Given the description of an element on the screen output the (x, y) to click on. 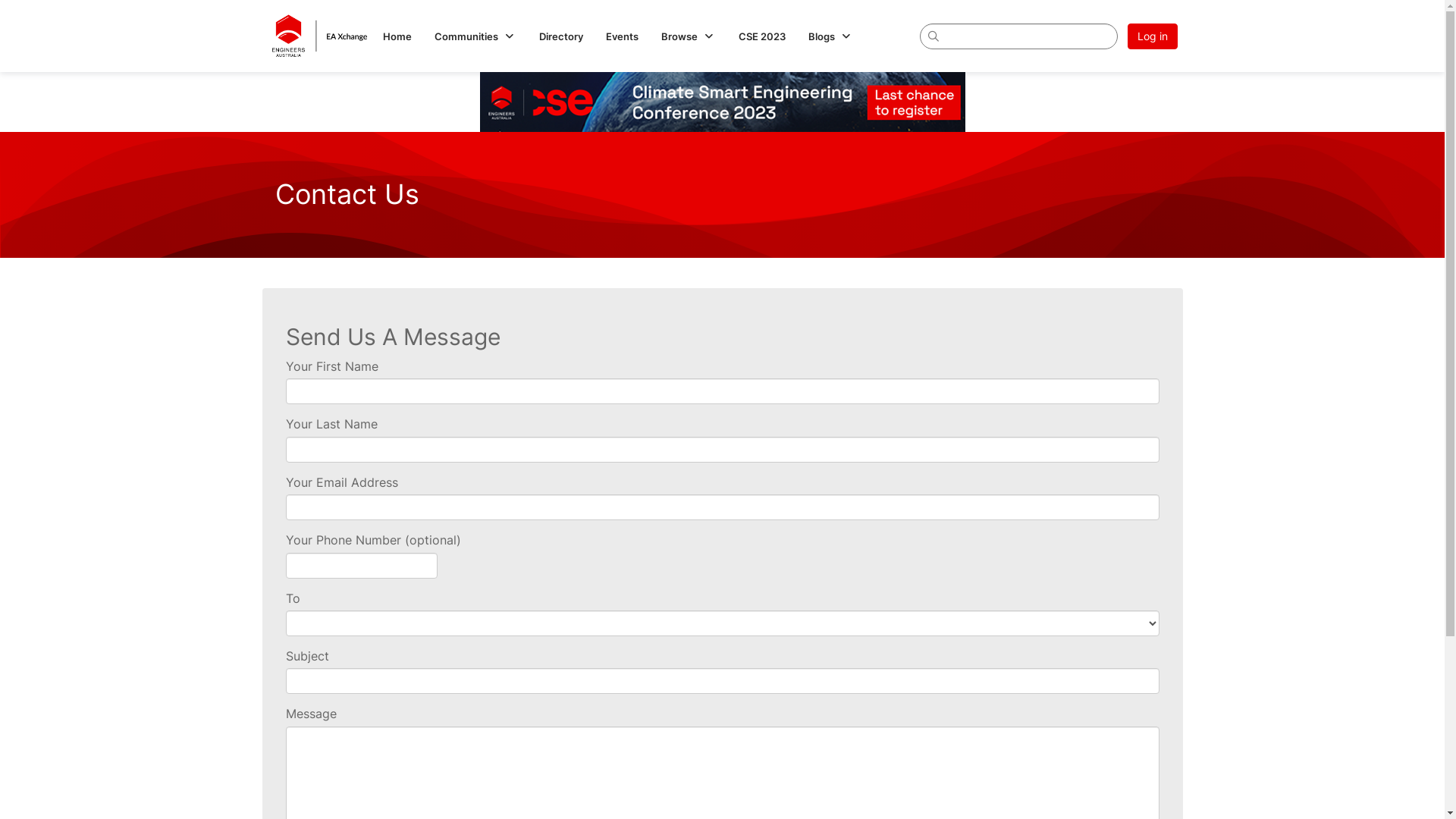
Communities Element type: text (475, 35)
Blogs Element type: text (830, 35)
Directory Element type: text (560, 35)
search Element type: hover (1018, 35)
Your Phone Number (optional) Element type: hover (360, 565)
Home Element type: text (397, 35)
Browse Element type: text (688, 35)
CSE 2023 Element type: text (762, 35)
Log in Element type: text (1151, 35)
Events Element type: text (621, 35)
